Given the description of an element on the screen output the (x, y) to click on. 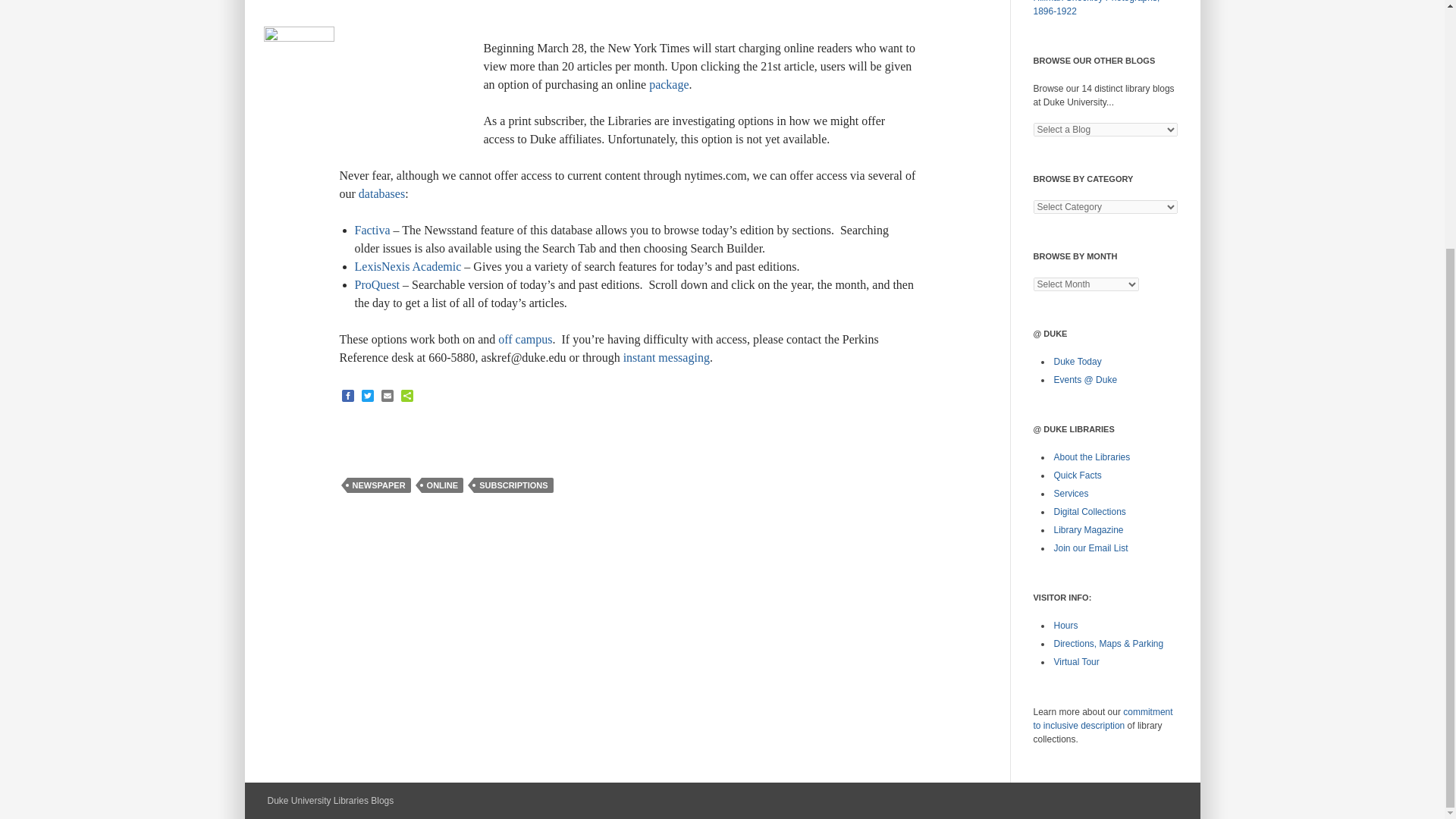
Library Magazine (1089, 529)
Virtual Tour (1076, 661)
off campus (524, 338)
About the Libraries (1092, 457)
instant messaging (666, 357)
NEWSPAPER (378, 485)
Duke Today (1078, 361)
databases (381, 193)
ONLINE (443, 485)
Join our Email List (1091, 547)
